Given the description of an element on the screen output the (x, y) to click on. 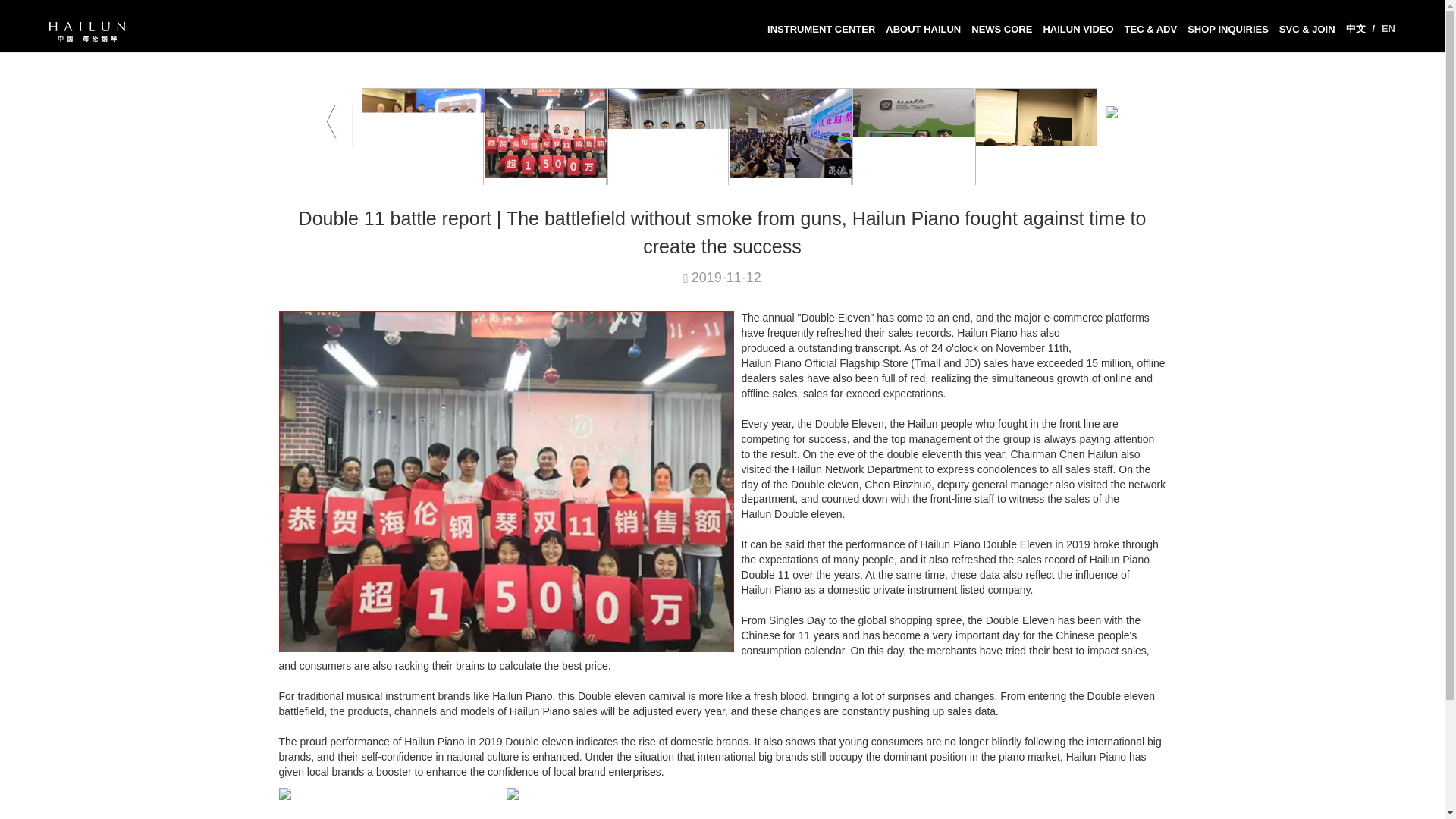
SHOP INQUIRIES (1228, 29)
NEWS CORE (1001, 29)
INSTRUMENT CENTER (820, 29)
EN (1387, 28)
ABOUT HAILUN (923, 29)
HAILUN VIDEO (1077, 29)
